Given the description of an element on the screen output the (x, y) to click on. 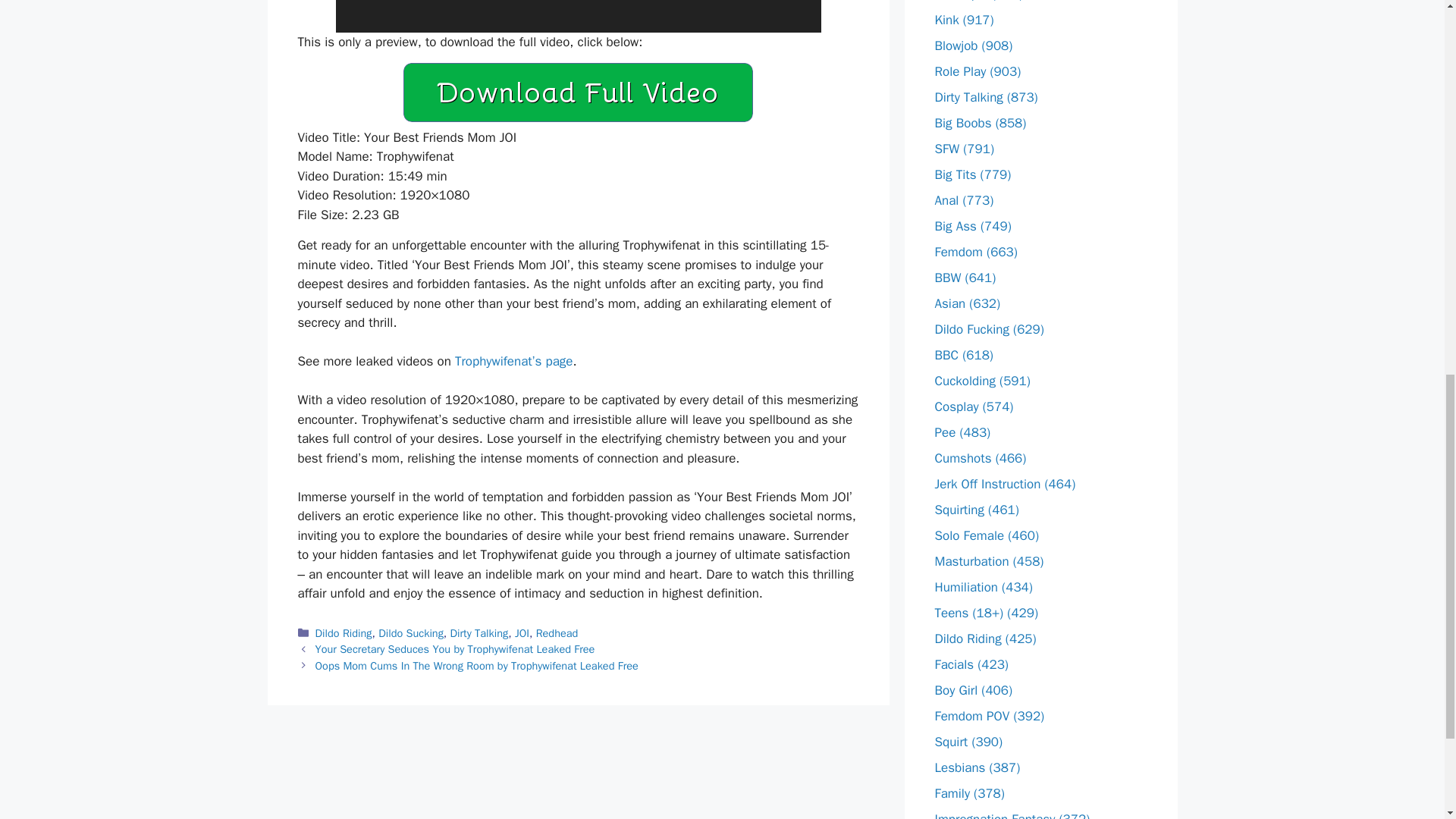
Oops Mom Cums In The Wrong Room by Trophywifenat Leaked Free (477, 665)
Dildo Sucking (411, 632)
Your Secretary Seduces You by Trophywifenat Leaked Free (455, 649)
JOI (522, 632)
Dildo Riding (343, 632)
Redhead (556, 632)
Dirty Talking (478, 632)
